Given the description of an element on the screen output the (x, y) to click on. 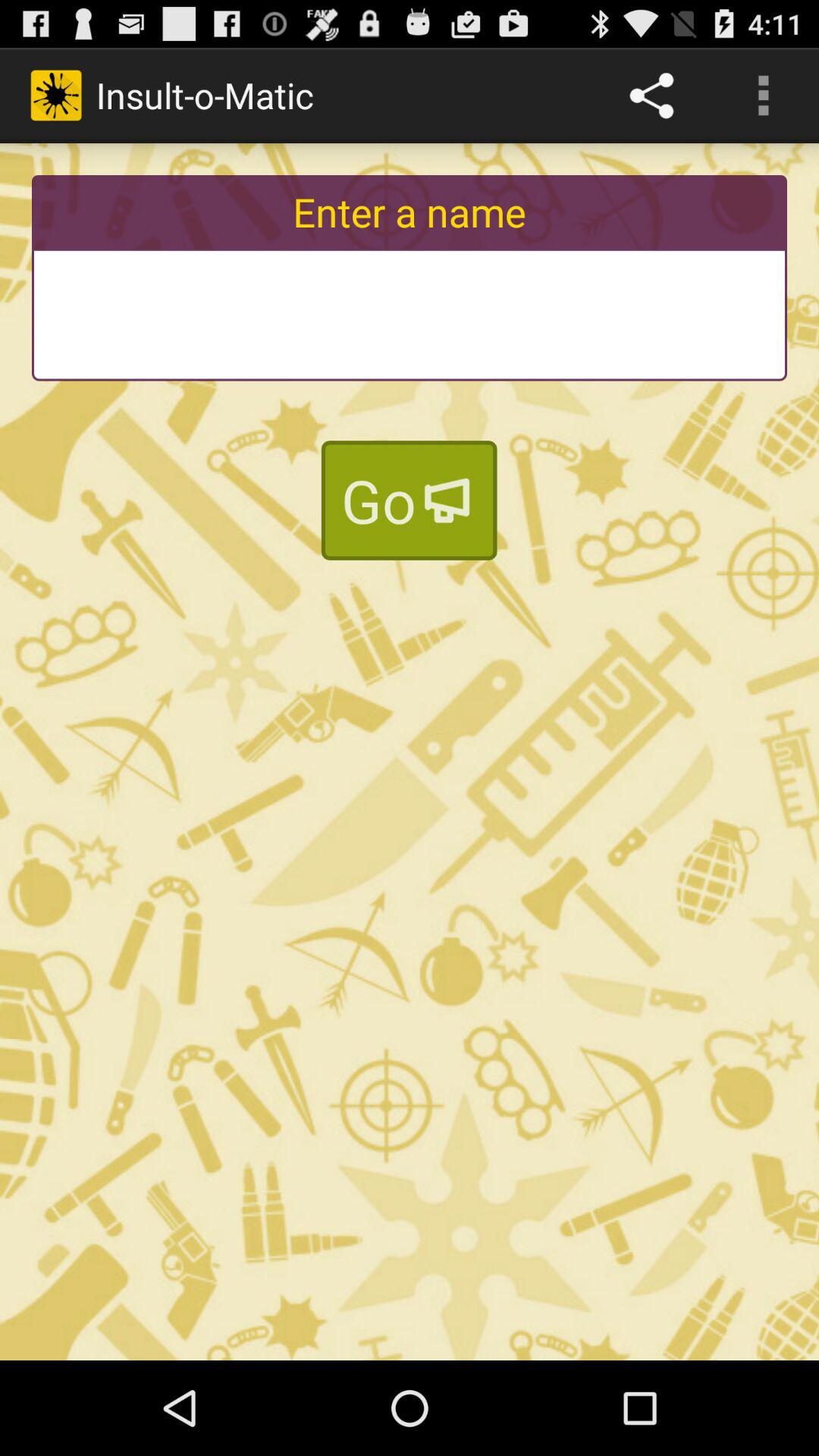
enter name (409, 314)
